Given the description of an element on the screen output the (x, y) to click on. 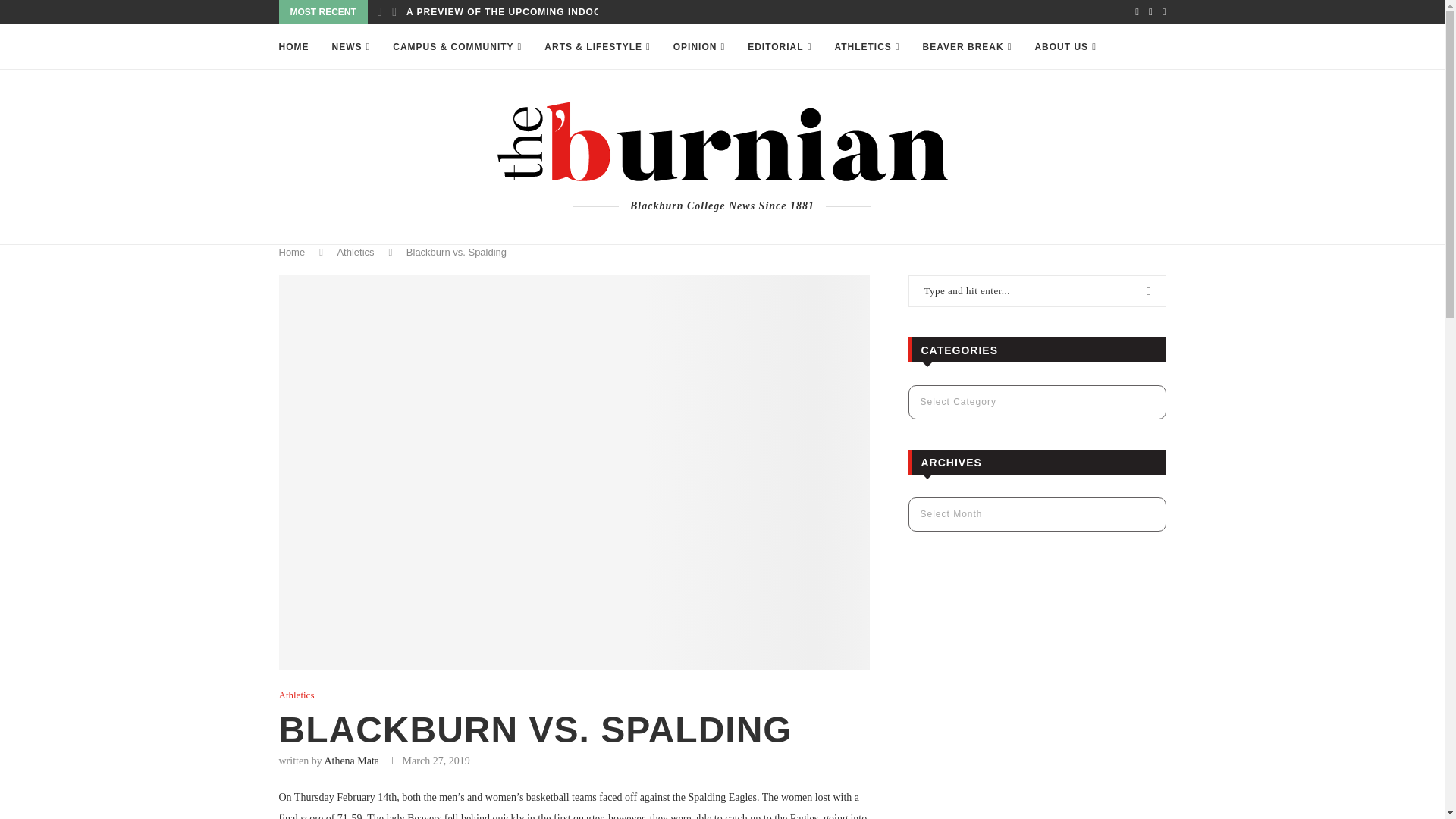
A PREVIEW OF THE UPCOMING INDOOR SPORTS SEASONS:... (563, 12)
